Given the description of an element on the screen output the (x, y) to click on. 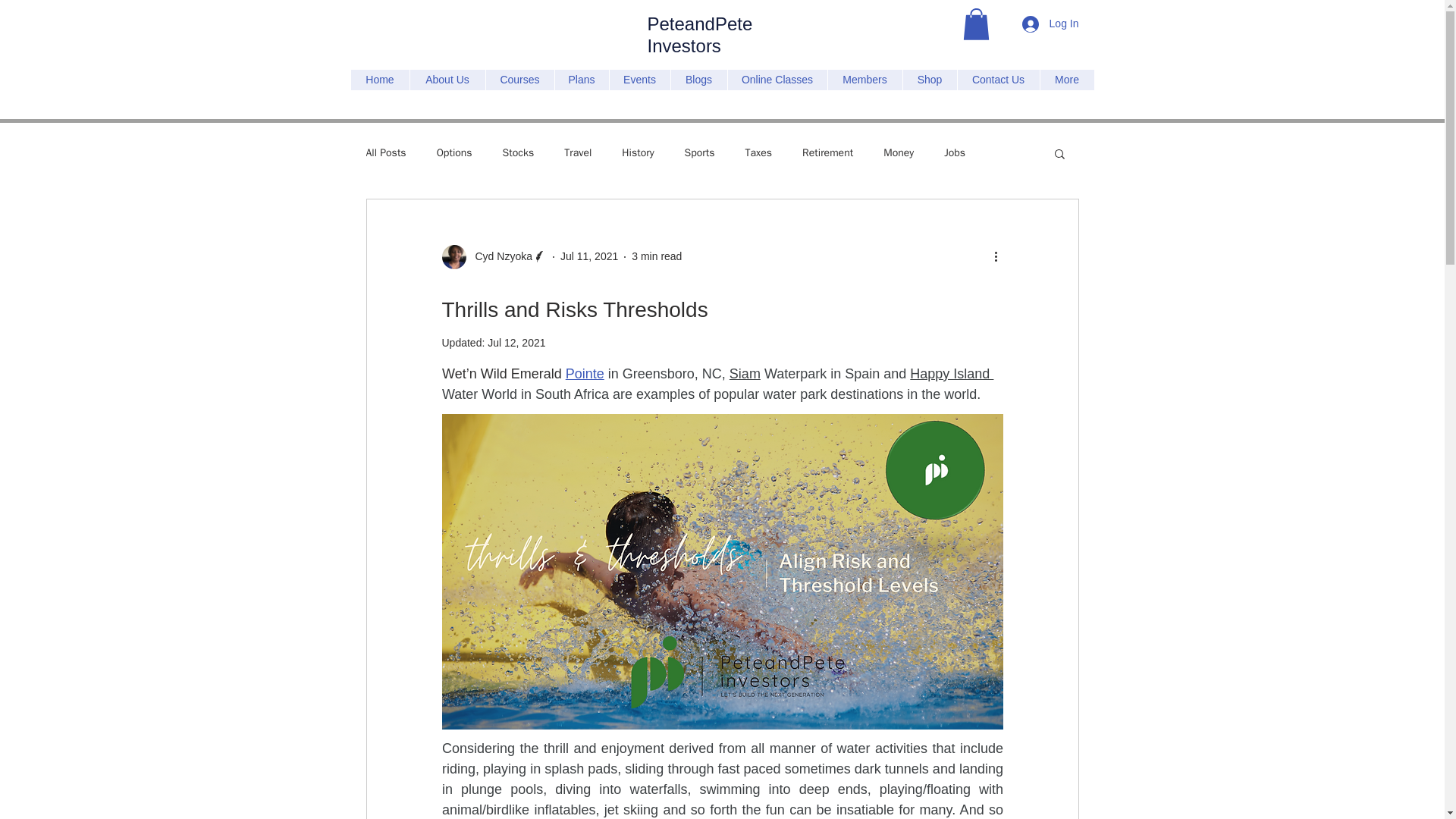
Cyd Nzyoka (493, 256)
Pointe (584, 373)
Jobs (954, 152)
Happy Island  (951, 373)
About Us (446, 79)
Courses (519, 79)
Plans (580, 79)
Taxes (759, 152)
Money (898, 152)
Online Classes (776, 79)
Jul 11, 2021 (588, 256)
Blogs (697, 79)
Sports (699, 152)
Jul 12, 2021 (515, 342)
All Posts (385, 152)
